Given the description of an element on the screen output the (x, y) to click on. 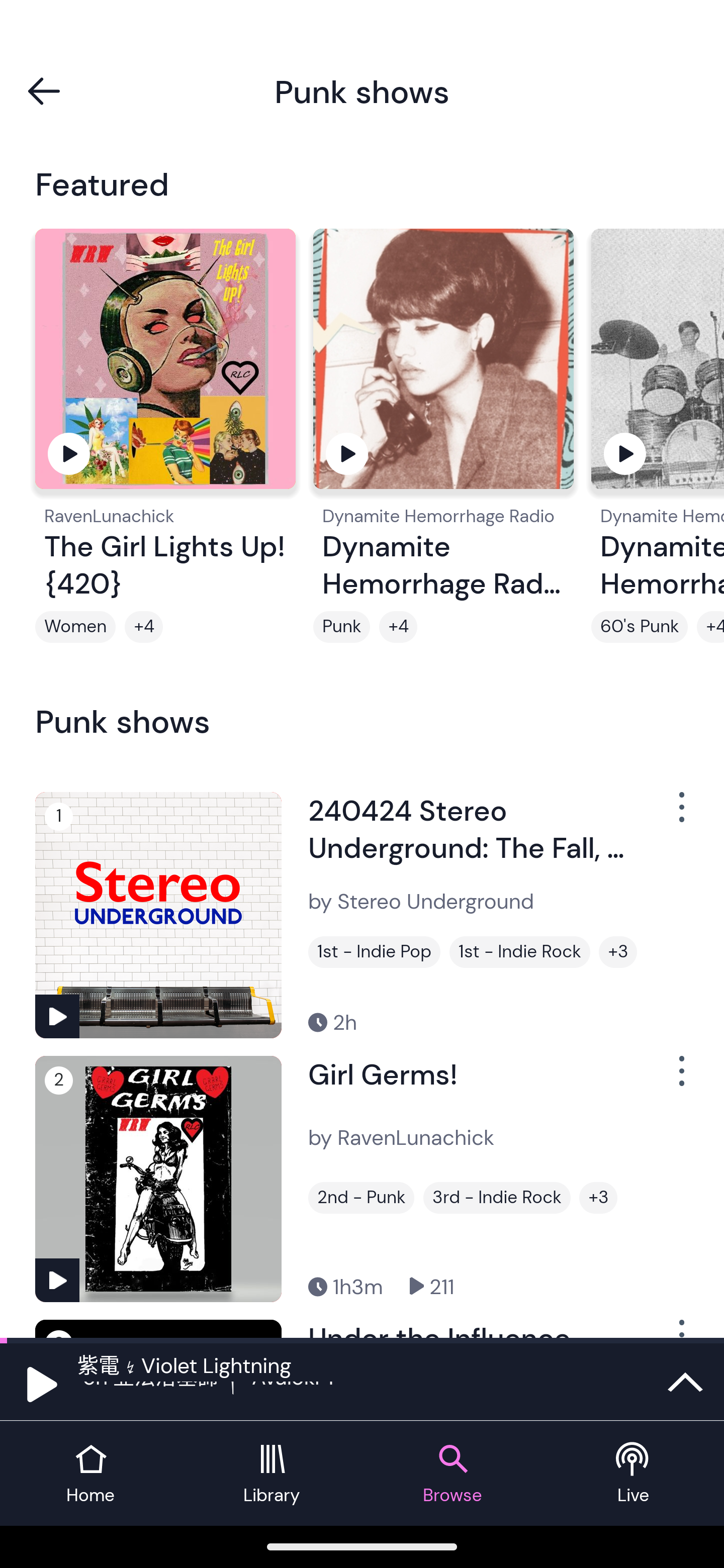
Women (75, 626)
Punk (341, 626)
60's Punk (639, 626)
Show Options Menu Button (679, 814)
1st - Indie Pop (374, 951)
1st - Indie Rock (519, 951)
Show Options Menu Button (679, 1078)
2nd - Punk (361, 1197)
3rd - Indie Rock (496, 1197)
Home tab Home (90, 1473)
Library tab Library (271, 1473)
Browse tab Browse (452, 1473)
Live tab Live (633, 1473)
